Given the description of an element on the screen output the (x, y) to click on. 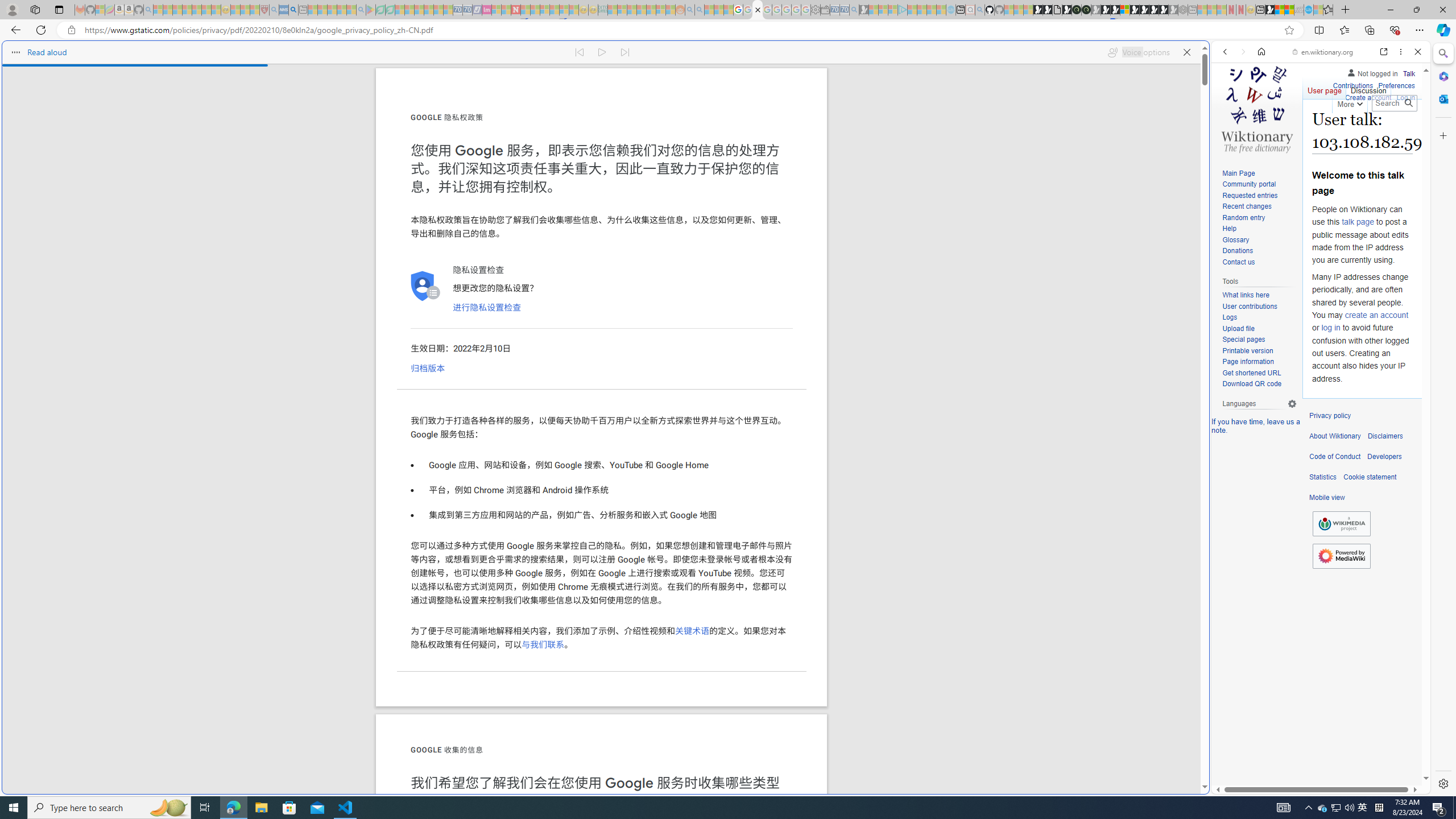
Class: b_serphb (1404, 130)
Page information (1259, 361)
Visit the main page (1257, 108)
Search Wiktionary (1393, 103)
User page (1324, 87)
Printable version (1247, 350)
create an account (1376, 314)
Contributions (1352, 85)
AutomationID: footer-copyrightico (1341, 523)
